Given the description of an element on the screen output the (x, y) to click on. 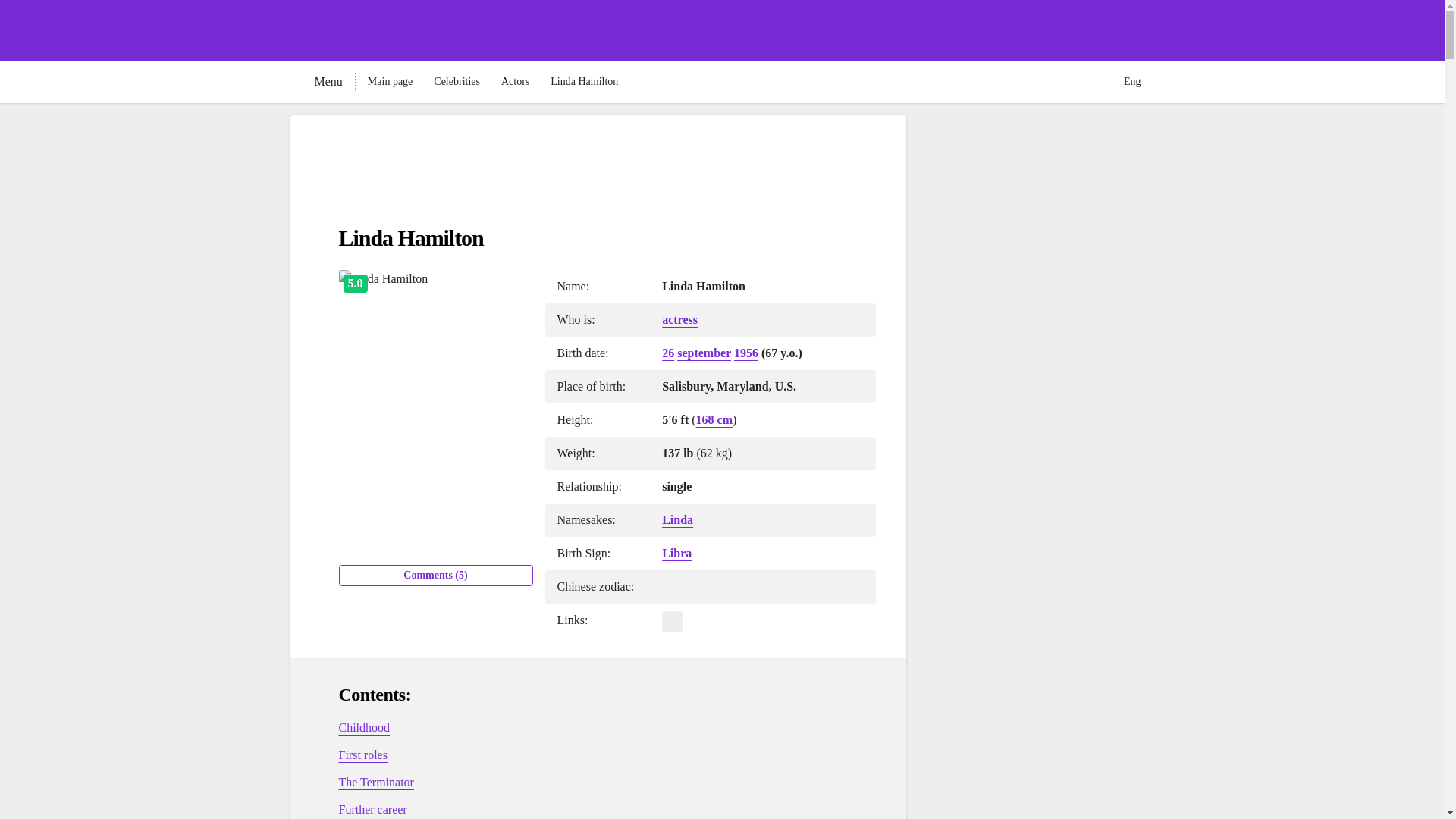
Biographies of Actors (514, 81)
Celebrities born in 1956 (745, 352)
Main page (390, 81)
Childhood (363, 727)
Actors (514, 81)
Actress (679, 318)
Menu (315, 81)
september (703, 352)
Further career (371, 809)
